Given the description of an element on the screen output the (x, y) to click on. 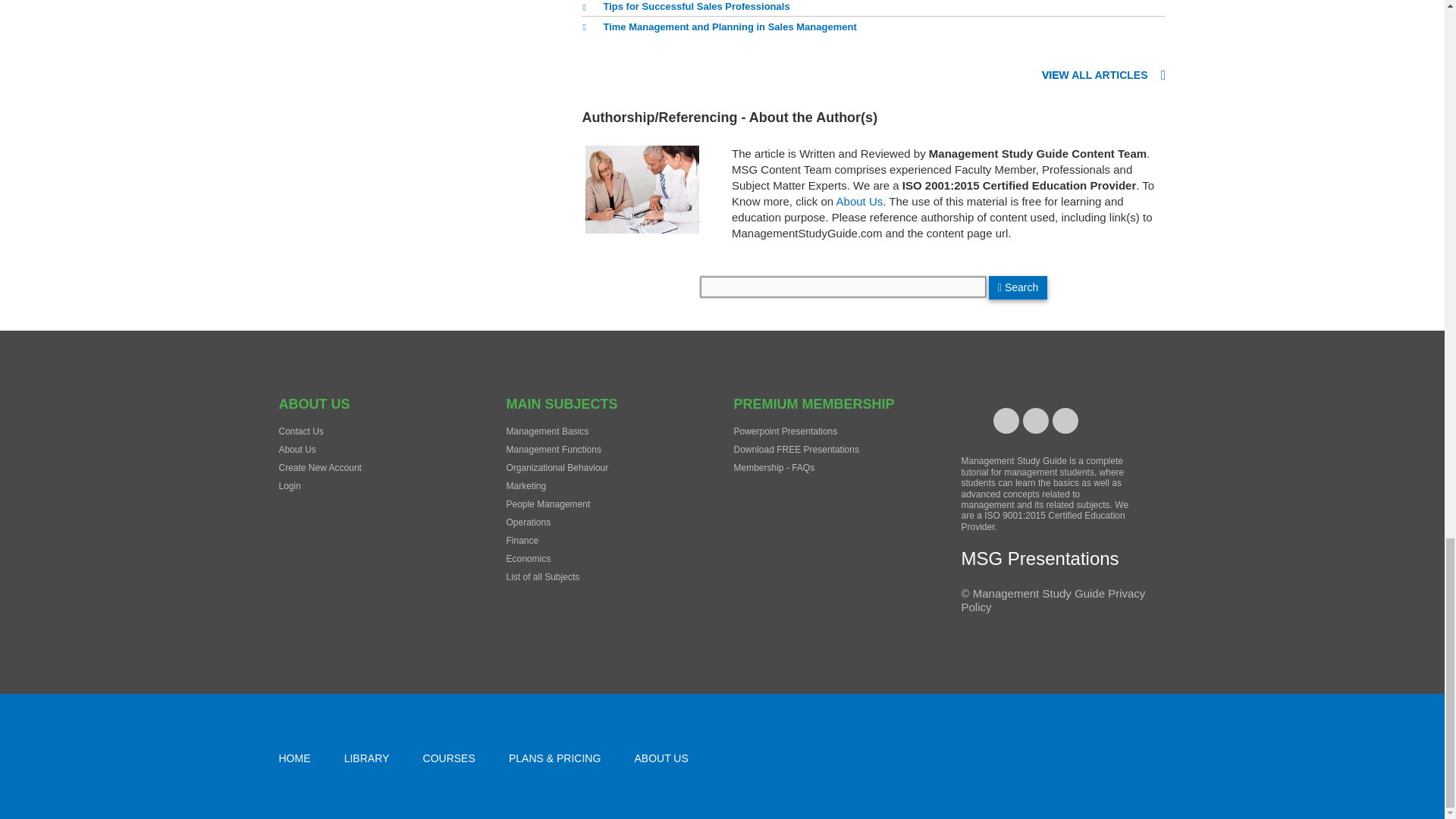
VIEW ALL ARTICLES (1104, 75)
About Us (859, 201)
Time Management and Planning in Sales Management (718, 27)
Tips for Successful Sales Professionals (684, 9)
